Given the description of an element on the screen output the (x, y) to click on. 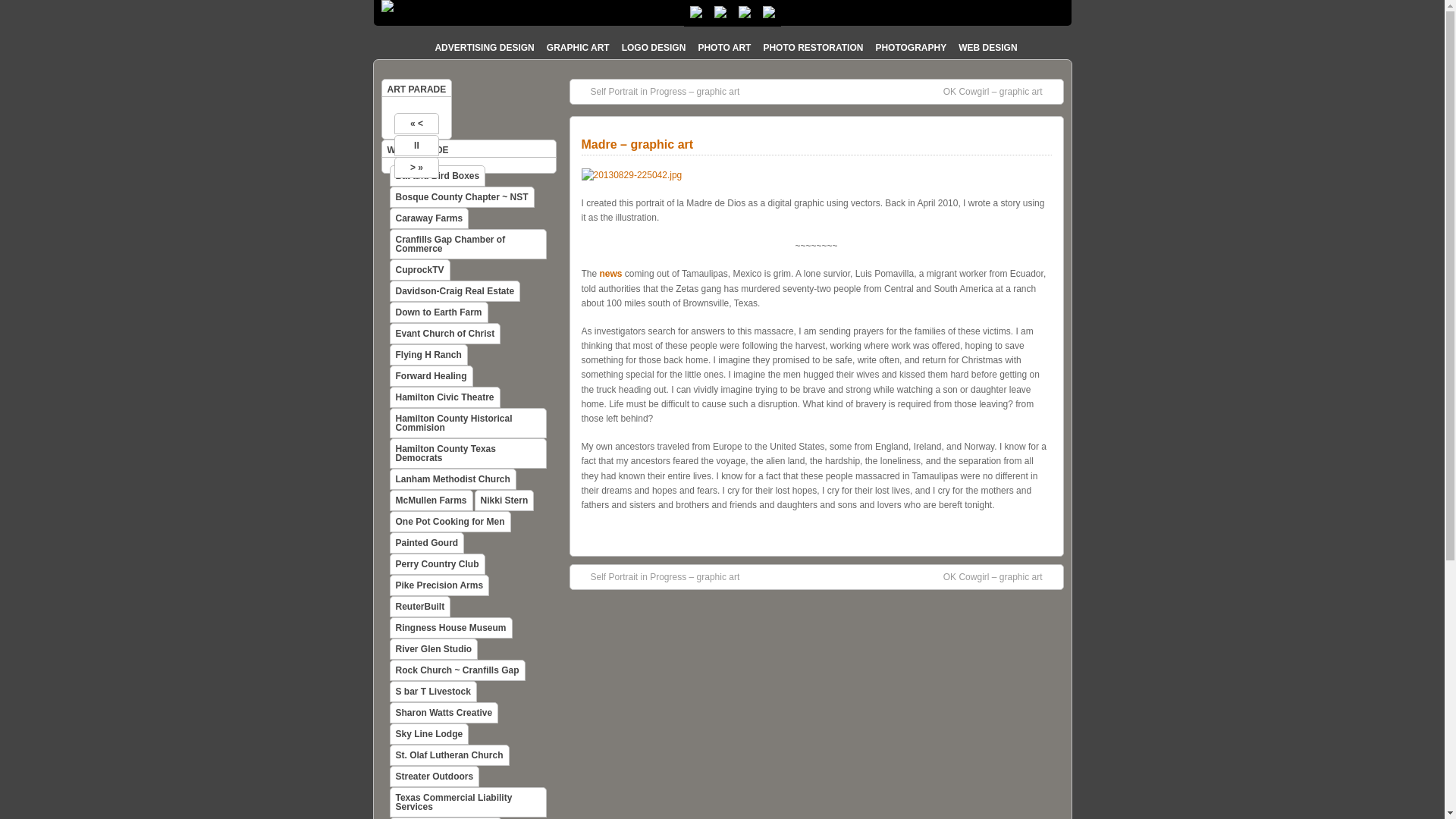
PHOTO ART (724, 46)
ART PARADE (415, 88)
WHATS-UP (768, 13)
PHOTO RESTORATION (813, 46)
ADVERTISING DESIGN (484, 46)
news (611, 273)
SERVICES (719, 13)
LOGO DESIGN (654, 46)
GRAPHIC ART (577, 46)
HOME (695, 13)
